Given the description of an element on the screen output the (x, y) to click on. 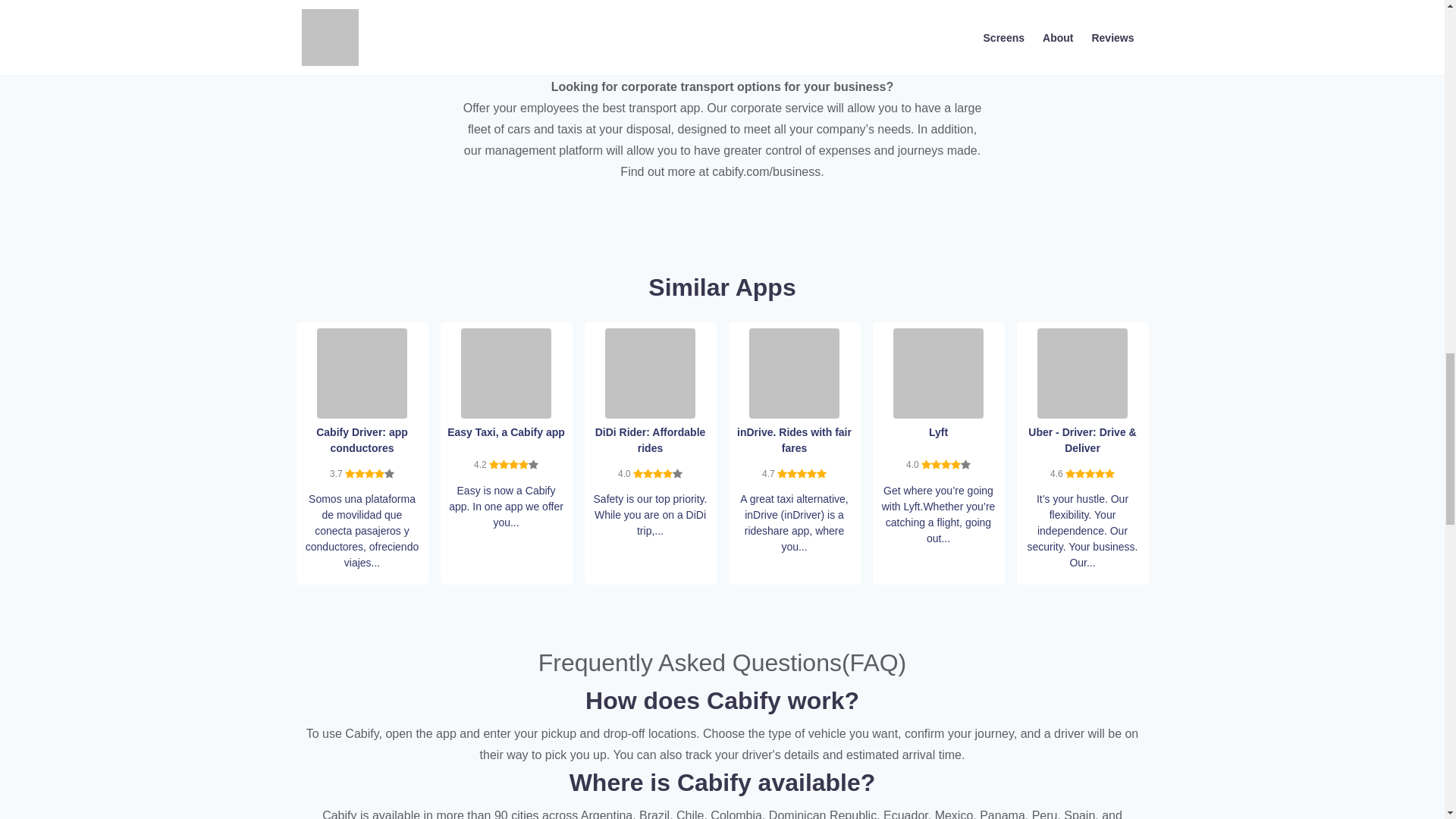
Easy Taxi, a Cabify app (506, 371)
DiDi Rider: Affordable rides (650, 371)
Cabify Driver: app conductores (362, 371)
Lyft (938, 371)
inDrive. Rides with fair fares (794, 371)
